Given the description of an element on the screen output the (x, y) to click on. 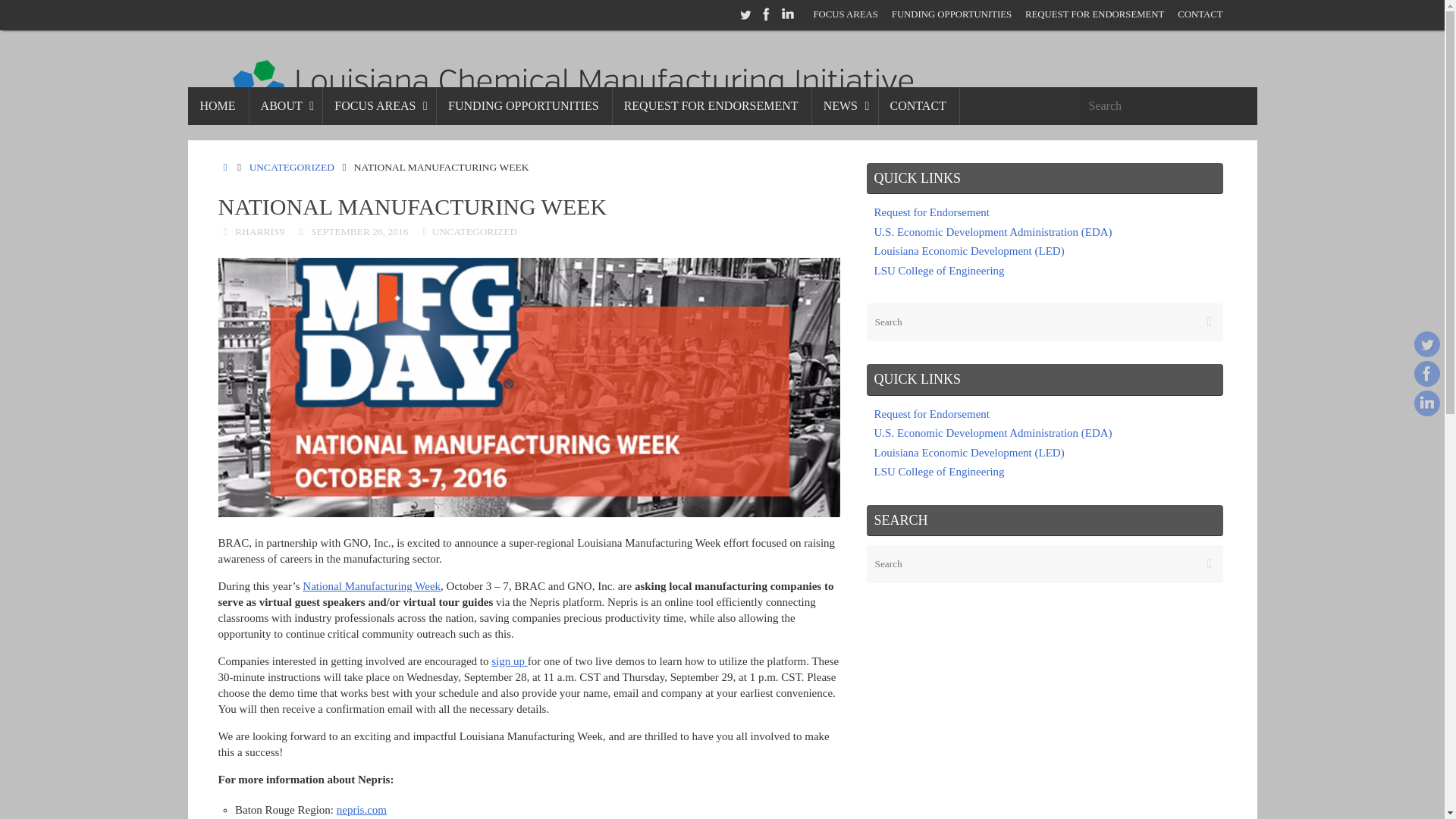
Louisiana Chemical Manufacturing Initiative (722, 75)
RHARRIS9 (258, 231)
HOME (225, 166)
Twitter (745, 14)
Categories (424, 231)
LinkedIn (787, 14)
Facebook (766, 14)
National Manufacturing Week (371, 585)
nepris.com (361, 809)
SEPTEMBER 26, 2016 (360, 231)
FUNDING OPPORTUNITIES (523, 105)
Twitter (1426, 344)
REQUEST FOR ENDORSEMENT (1094, 15)
FOCUS AREAS (378, 105)
NEWS (843, 105)
